Given the description of an element on the screen output the (x, y) to click on. 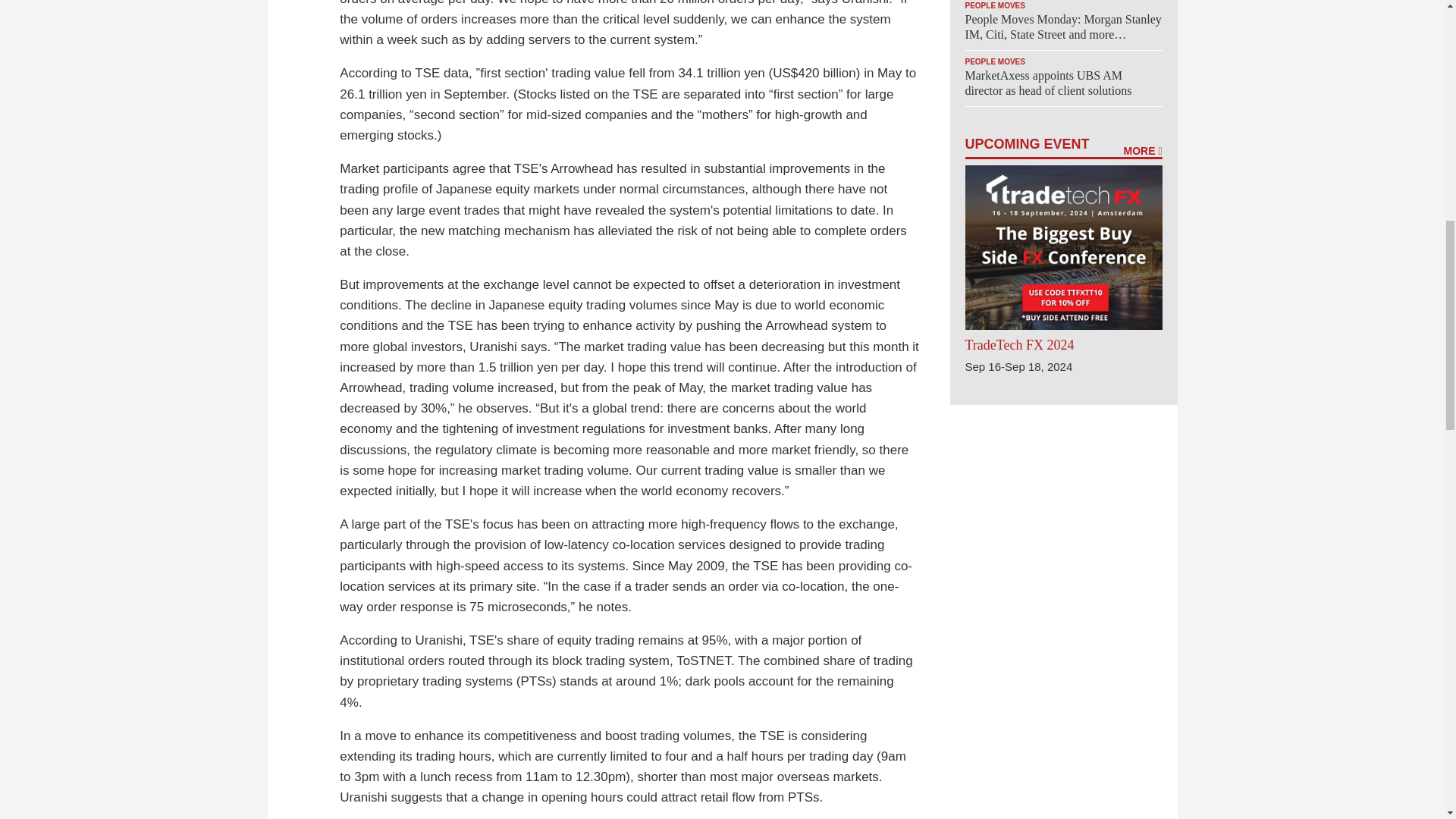
3rd party ad content (1062, 499)
